Given the description of an element on the screen output the (x, y) to click on. 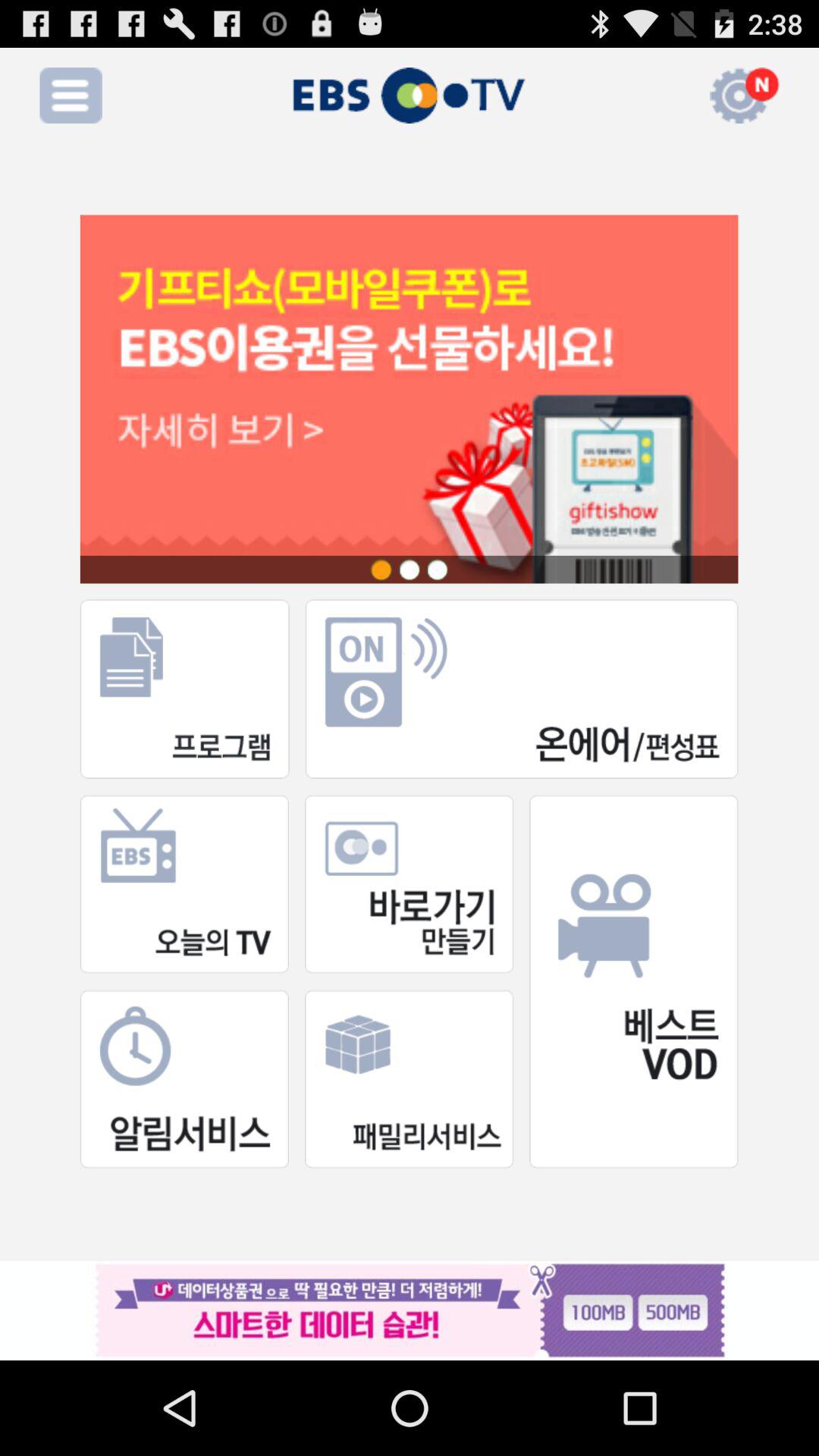
select the second box in the first row (521, 688)
click on the icon which is right to tv (652, 94)
click on the first box in the second row (184, 884)
click on the second image in the last column (408, 1079)
select the text which is right to the menu icon (409, 94)
click on the first block which is below the image (184, 688)
